Given the description of an element on the screen output the (x, y) to click on. 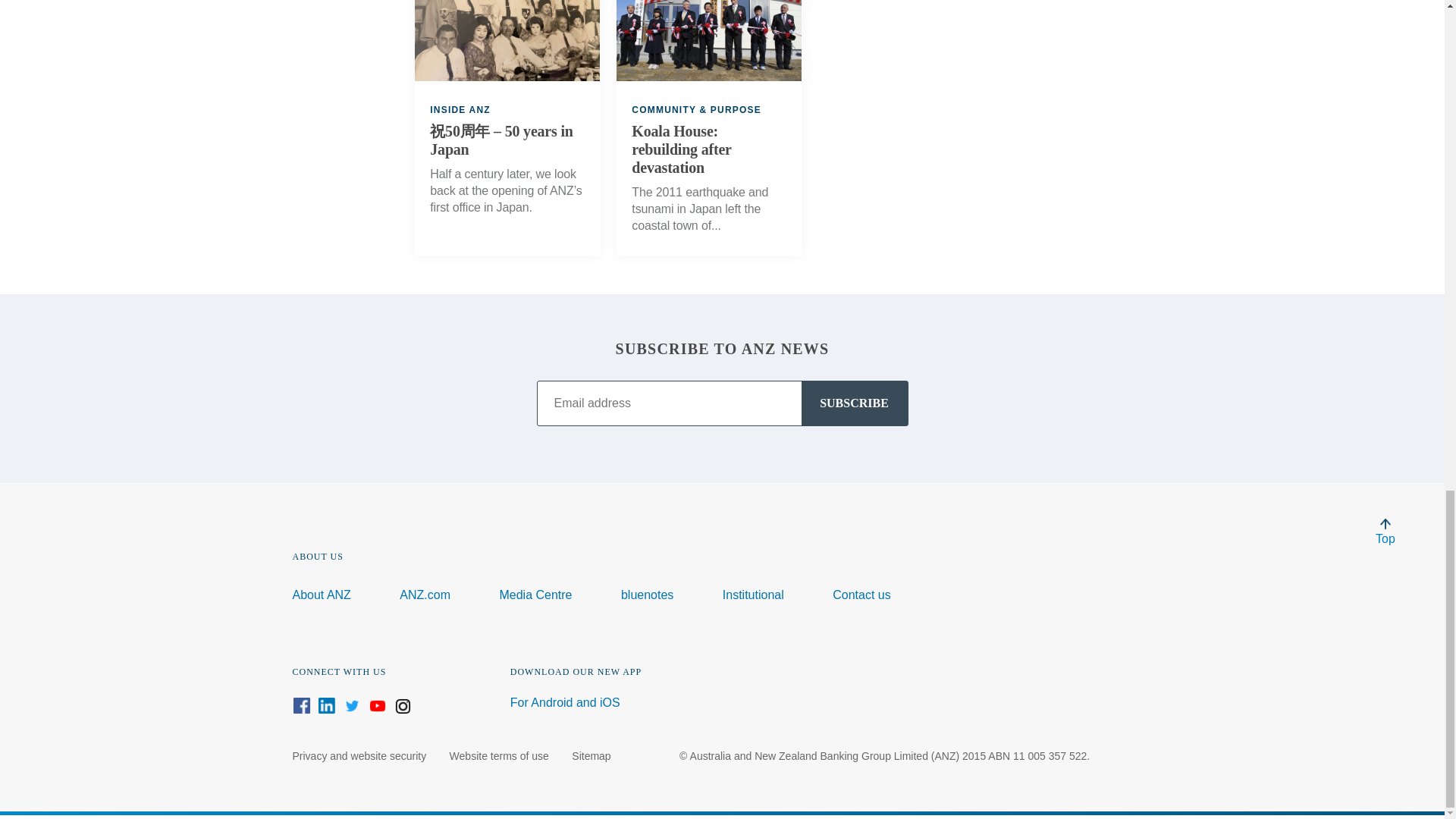
ANZ.com (423, 595)
Contact us (860, 595)
Media Centre (535, 595)
SUBSCRIBE (853, 402)
Contact us (860, 595)
Koala House: rebuilding after devastation (708, 149)
About ANZ (321, 595)
Instagram (402, 705)
Twitter (351, 705)
Privacy and website security (359, 756)
Institutional (753, 595)
About ANZ (321, 595)
bluenotes (646, 595)
Youtube (377, 705)
